Given the description of an element on the screen output the (x, y) to click on. 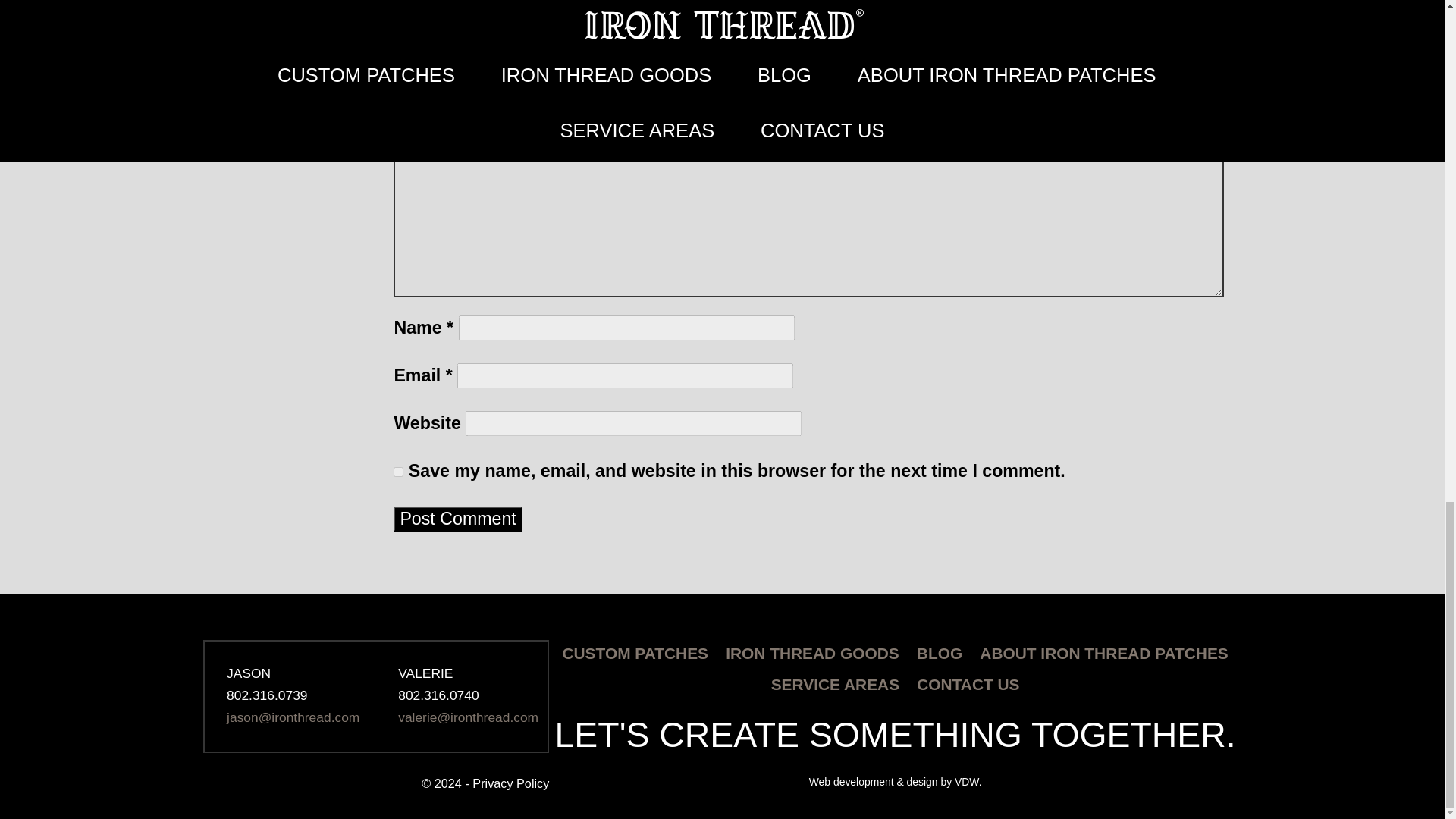
Post Comment (457, 518)
yes (398, 471)
Logo (375, 626)
Vermont Design Works (895, 781)
